Given the description of an element on the screen output the (x, y) to click on. 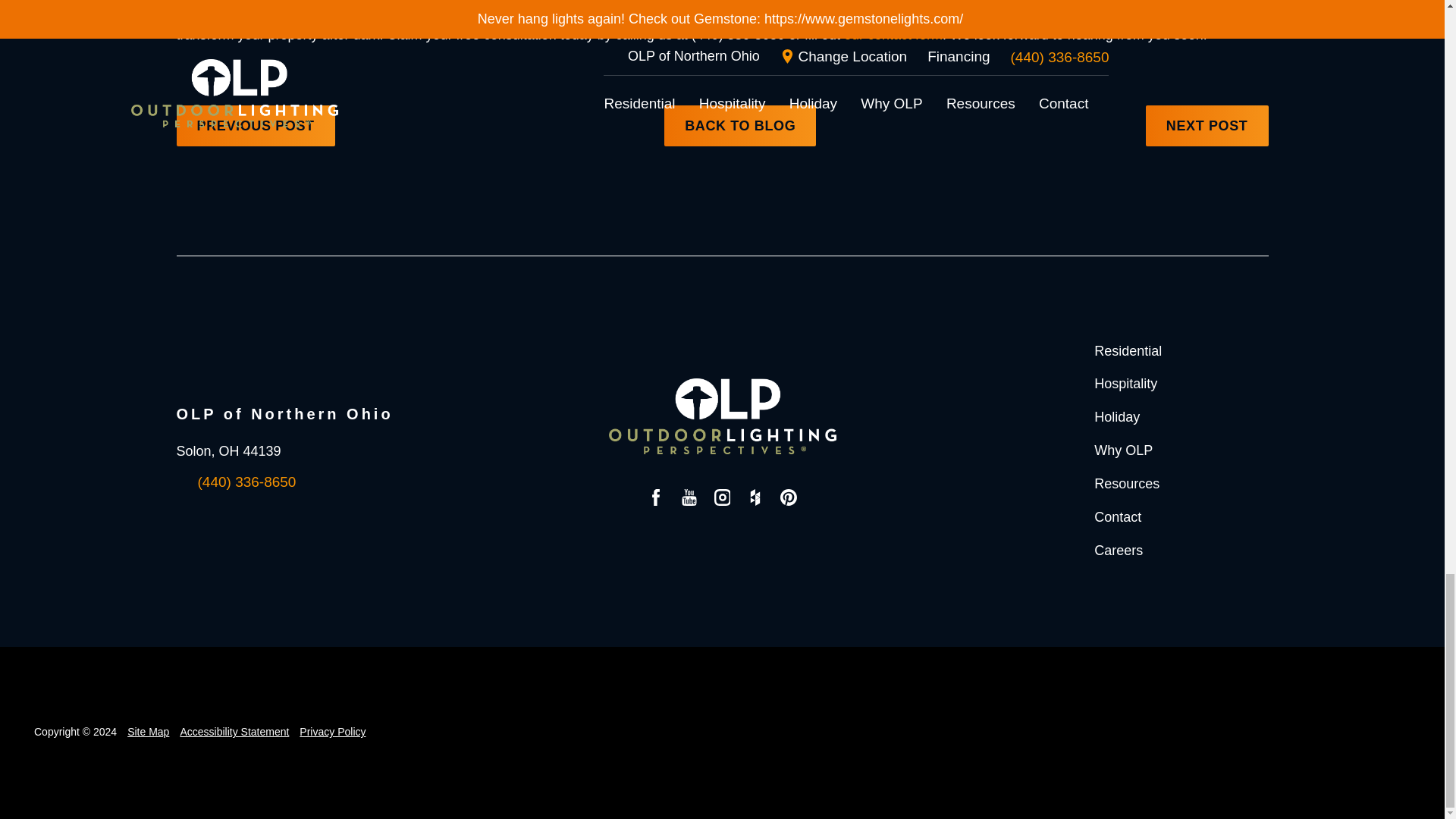
Outdoor Lighting Perspectives (721, 416)
